Given the description of an element on the screen output the (x, y) to click on. 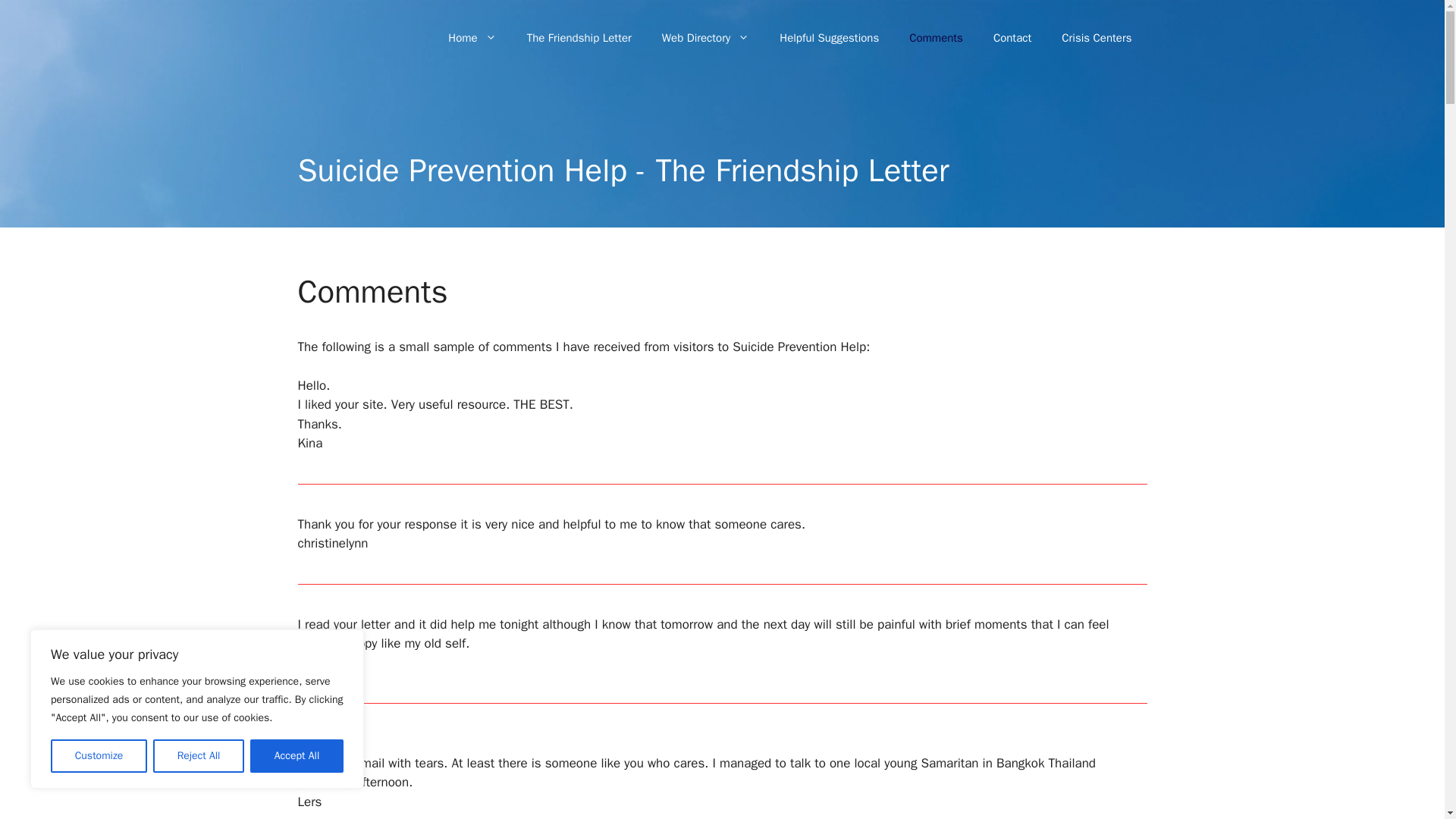
Web Directory (705, 37)
Accept All (296, 756)
Customize (98, 756)
The Friendship Letter (579, 37)
Comments (935, 37)
Home (471, 37)
Crisis Centers (1096, 37)
Helpful Suggestions (828, 37)
Reject All (198, 756)
Contact (1012, 37)
